Given the description of an element on the screen output the (x, y) to click on. 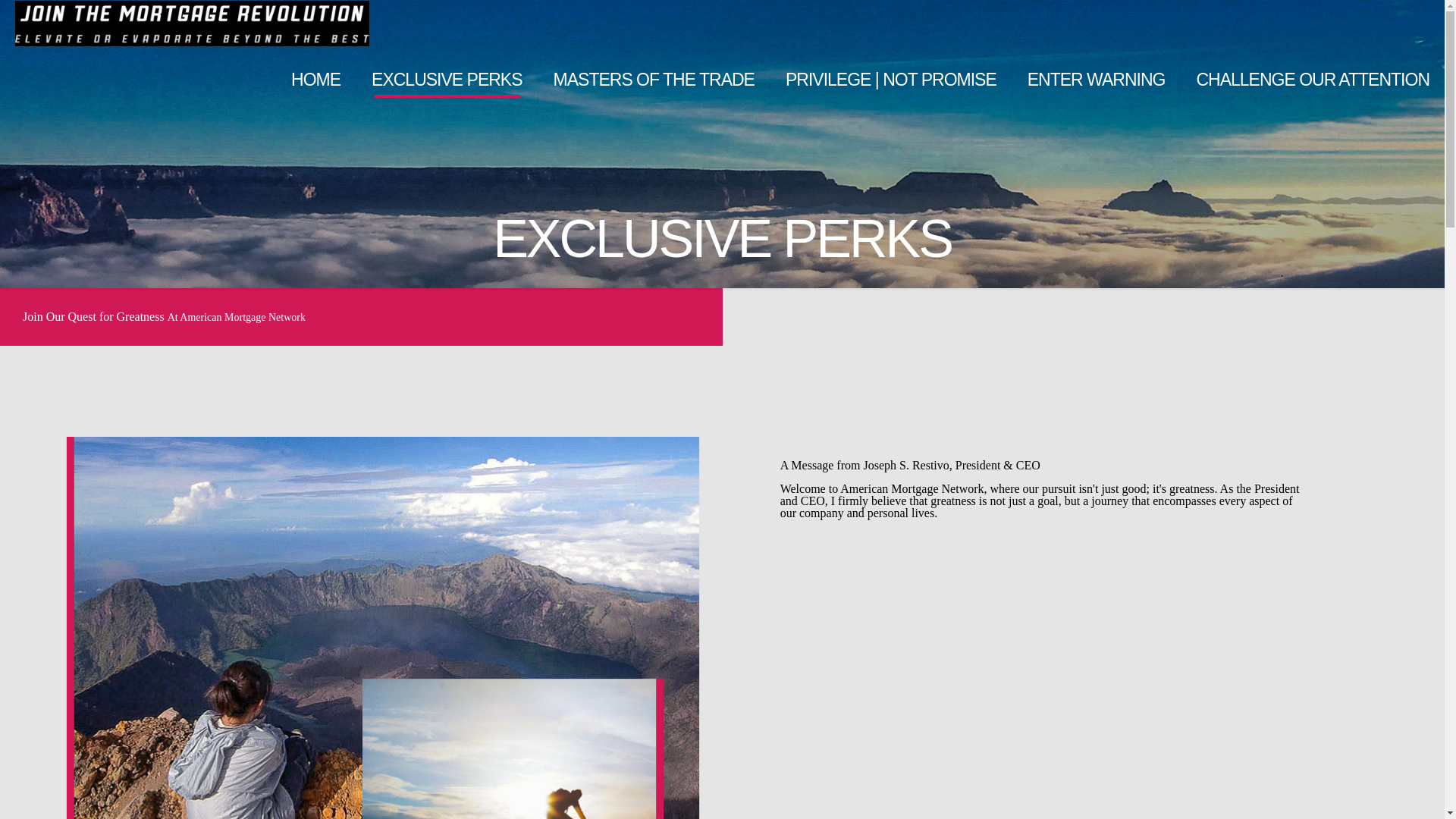
MASTERS OF THE TRADE (654, 79)
EXCLUSIVE PERKS (446, 79)
HOME (316, 79)
ENTER WARNING (1095, 79)
